Given the description of an element on the screen output the (x, y) to click on. 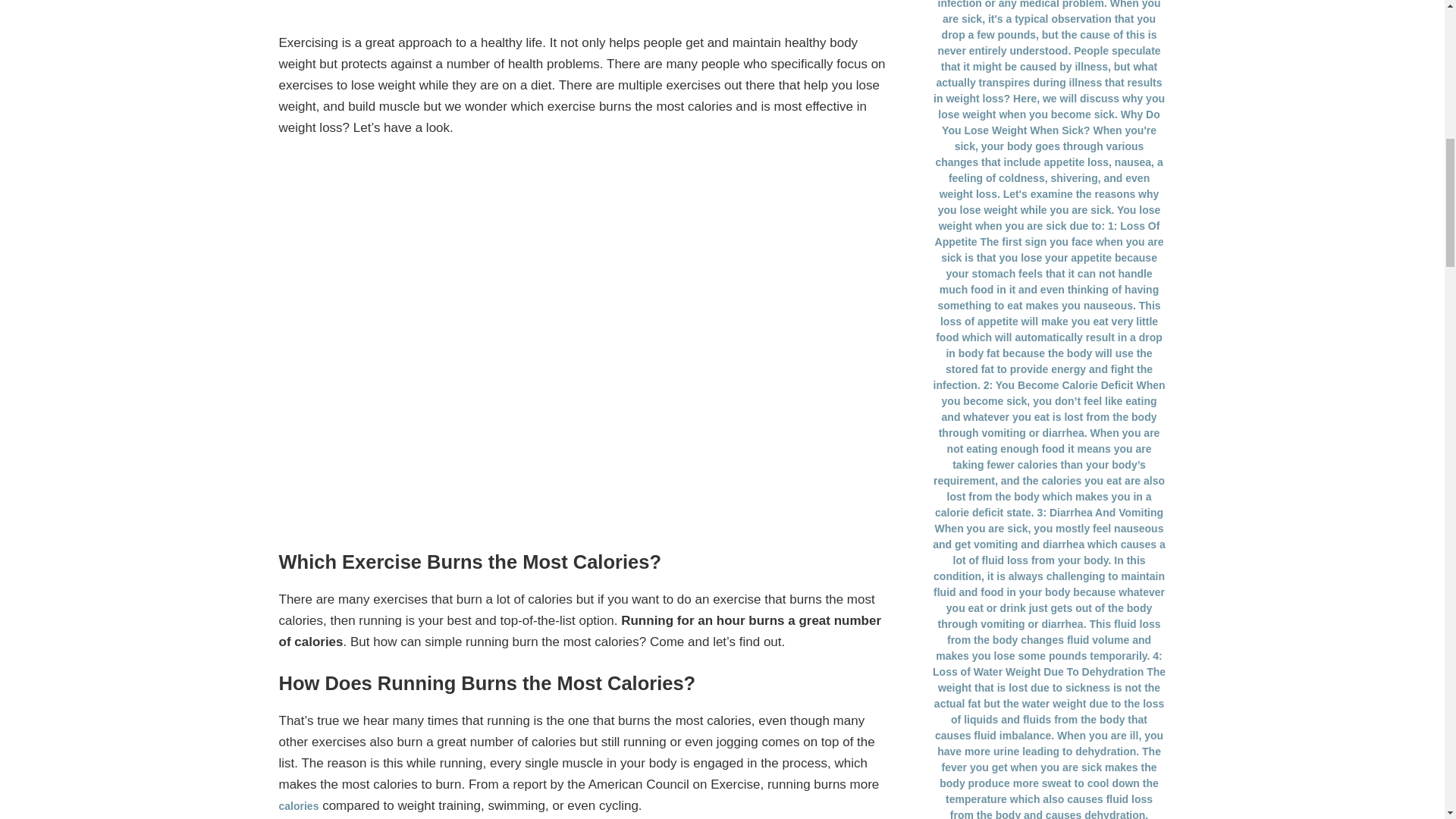
YUMNA AHMAD (531, 1)
calories (298, 806)
JANUARY 16, 2023 (633, 1)
